Given the description of an element on the screen output the (x, y) to click on. 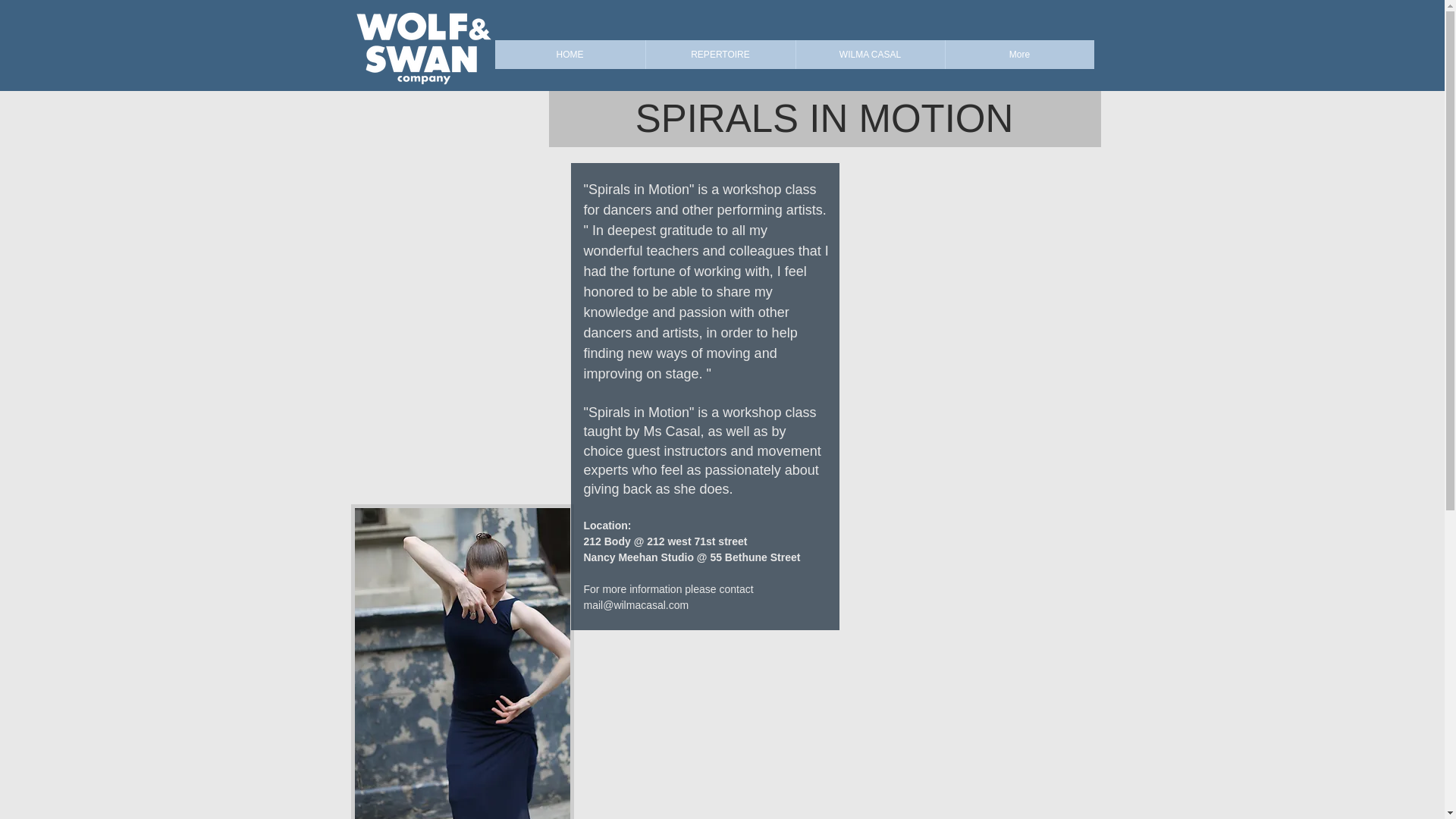
HOME (570, 54)
WILMA CASAL (868, 54)
REPERTOIRE (719, 54)
